Given the description of an element on the screen output the (x, y) to click on. 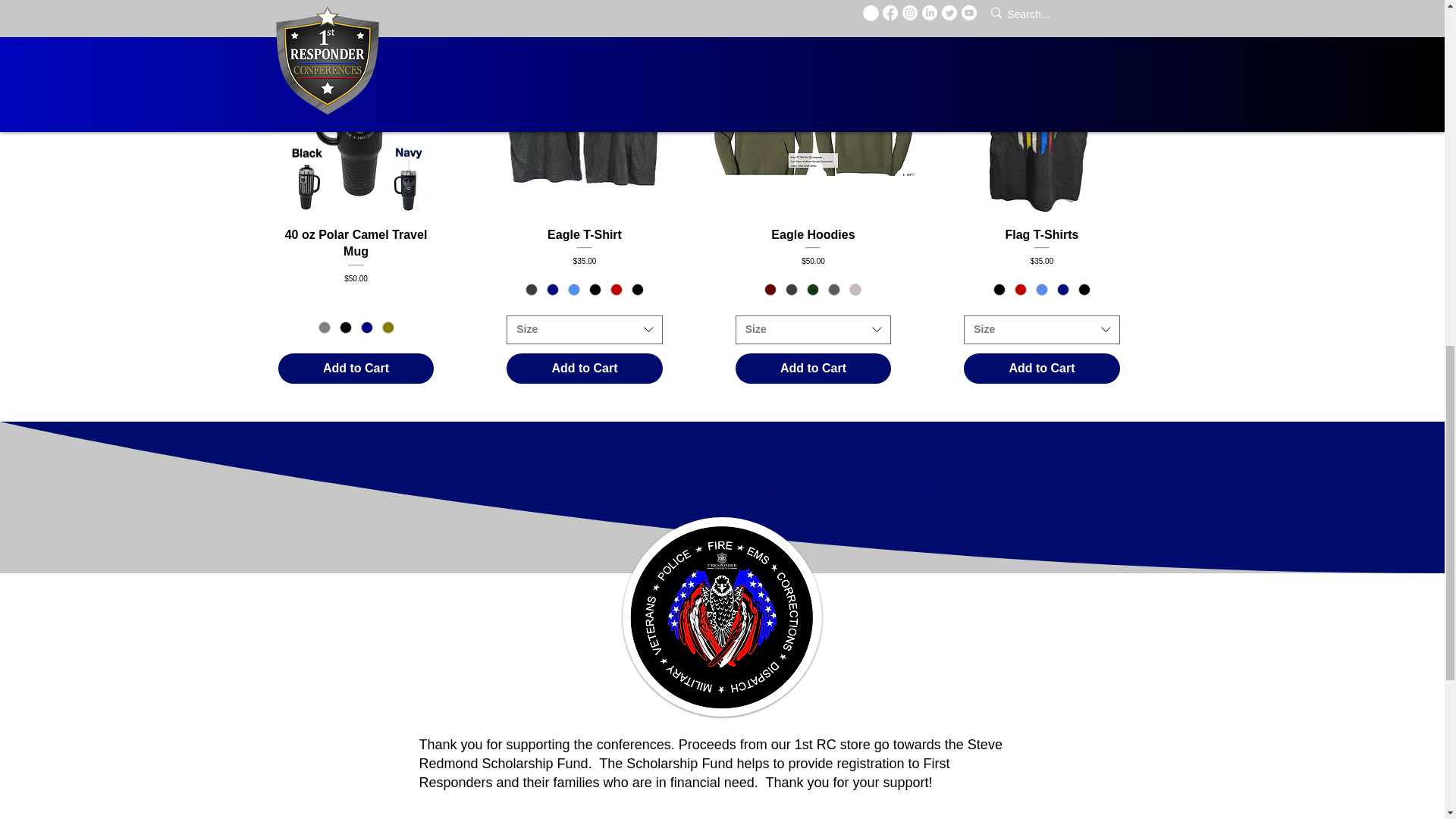
Size (149, 1)
